Given the description of an element on the screen output the (x, y) to click on. 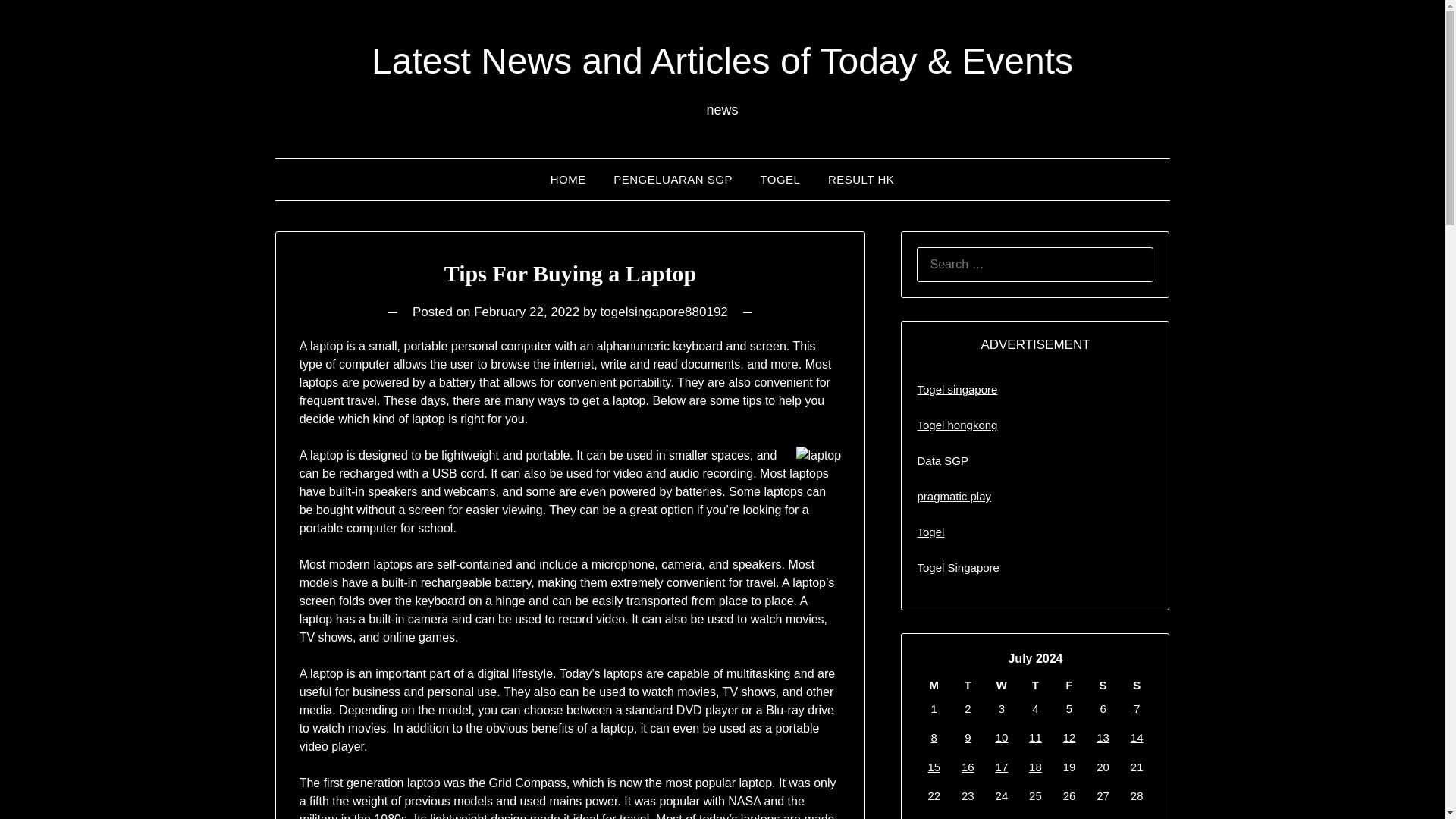
4 (1035, 707)
Friday (1069, 685)
13 (1102, 737)
Data SGP (942, 460)
11 (1035, 737)
10 (1002, 737)
Tuesday (967, 685)
Togel Singapore (957, 567)
14 (1136, 737)
2 (967, 707)
HOME (568, 178)
3 (1001, 707)
17 (1002, 766)
7 (1137, 707)
RESULT HK (860, 178)
